Given the description of an element on the screen output the (x, y) to click on. 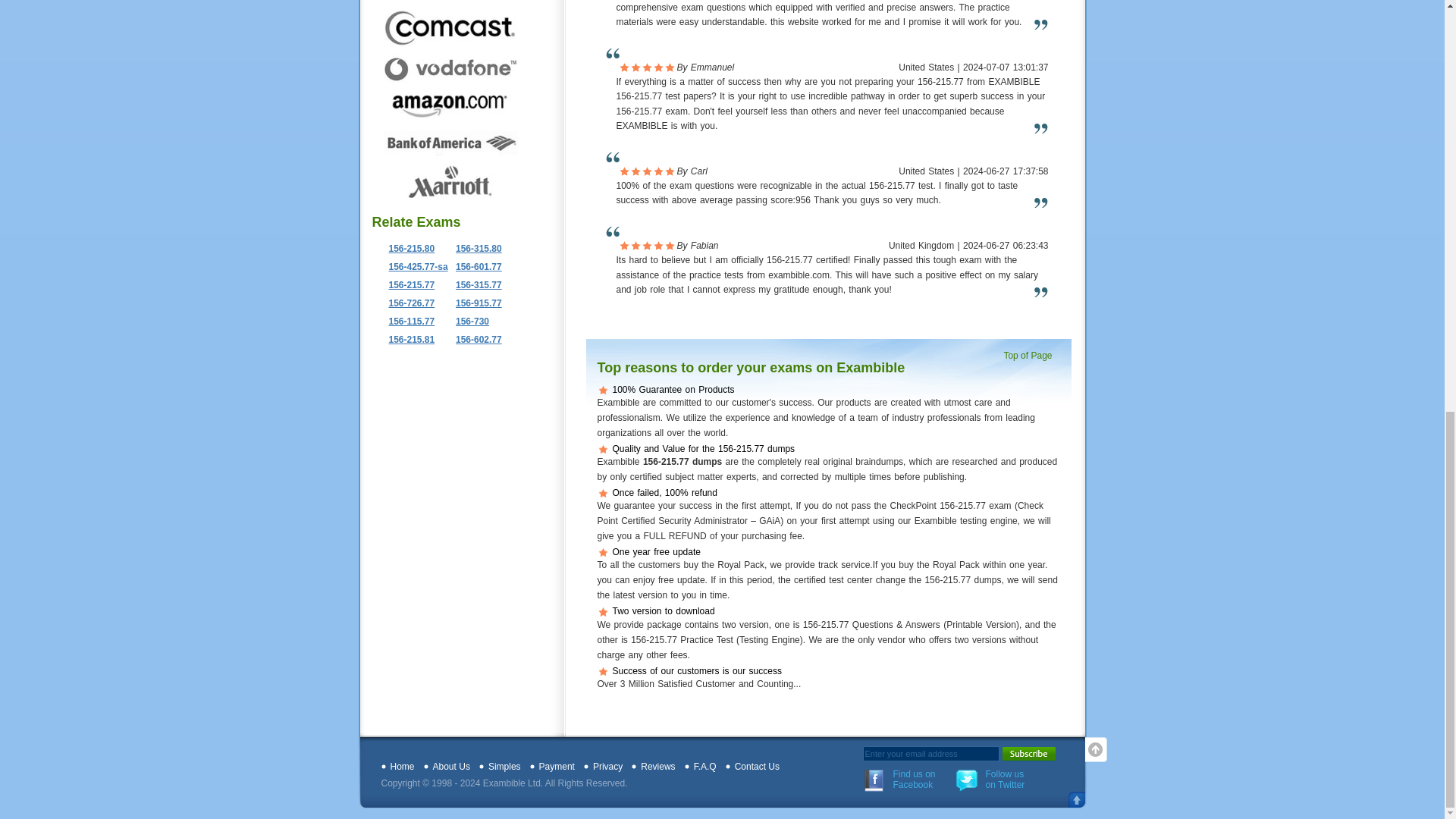
156-915.77 (475, 303)
Home (401, 766)
156-602.77 (475, 339)
Top of Page (1031, 355)
Simples (504, 766)
156-315.80 (475, 248)
Reviews (657, 766)
156-730 (468, 321)
156-215.81 (406, 339)
156-315.77 (475, 285)
Privacy (607, 766)
156-215.80 (406, 248)
156-115.77 (406, 321)
About Us (451, 766)
156-601.77 (475, 266)
